Given the description of an element on the screen output the (x, y) to click on. 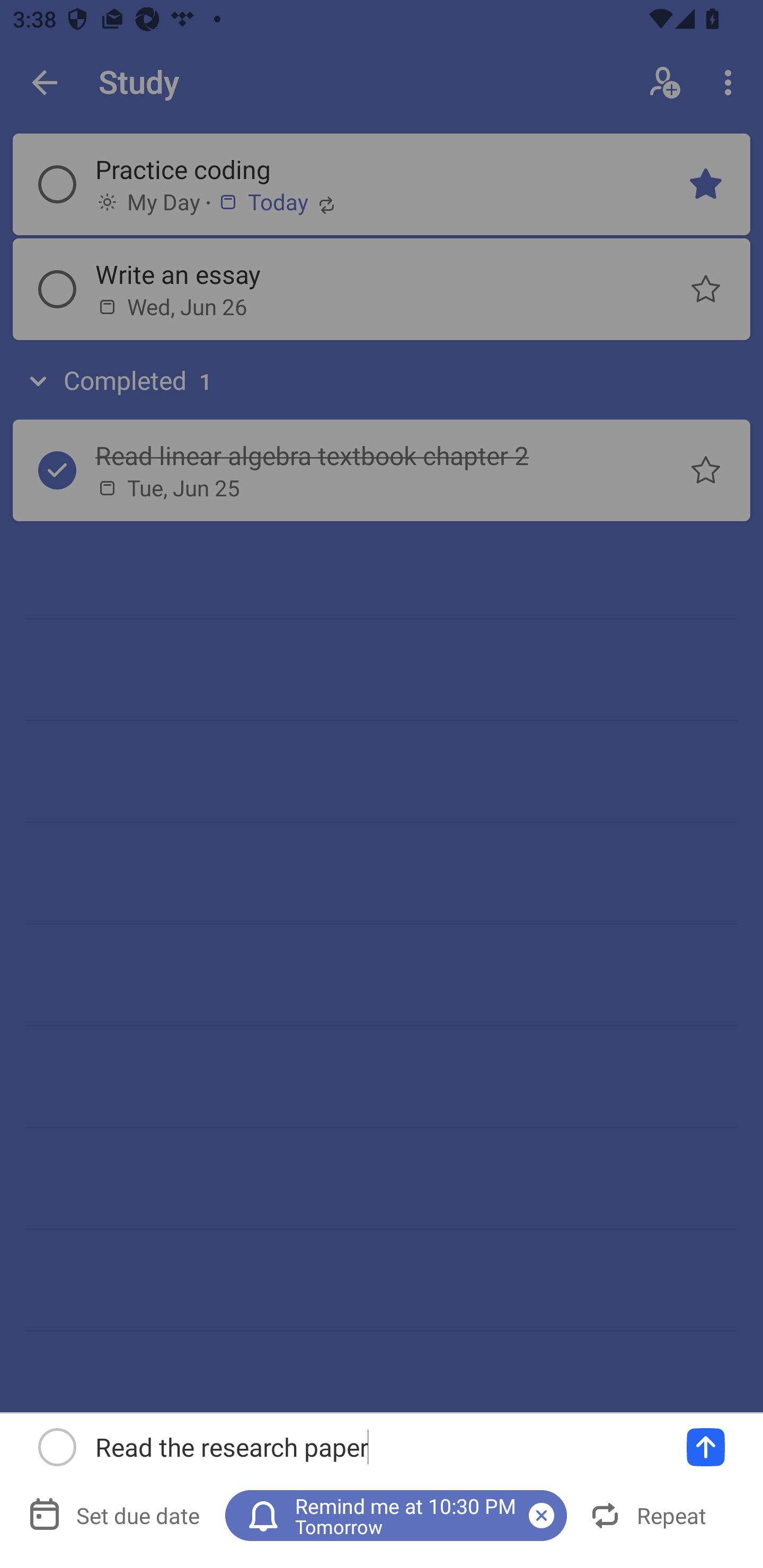
Add a task (705, 1446)
